Given the description of an element on the screen output the (x, y) to click on. 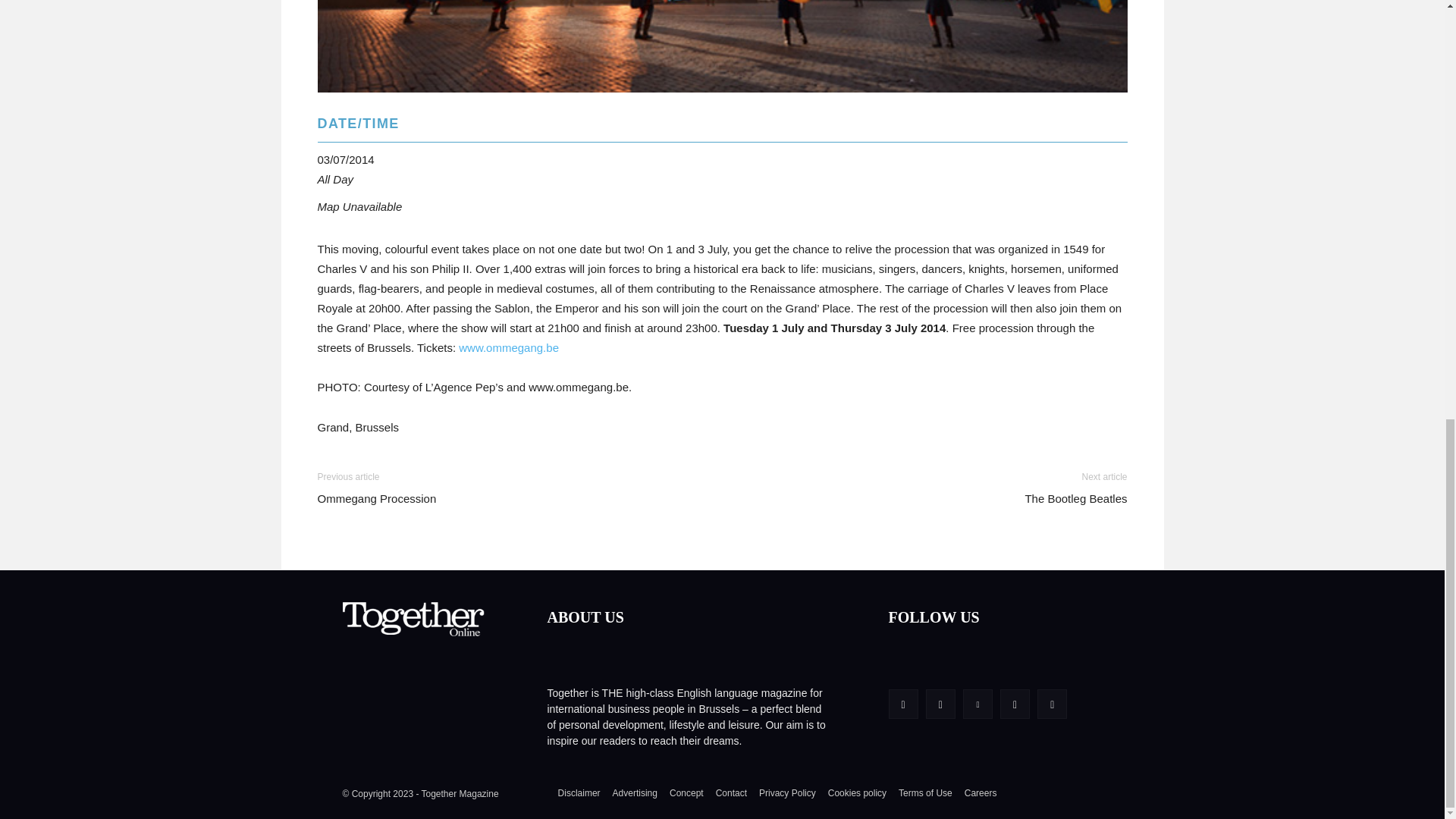
Ommegang Procession (721, 46)
together-logo-footer (414, 621)
Facebook (903, 704)
